Given the description of an element on the screen output the (x, y) to click on. 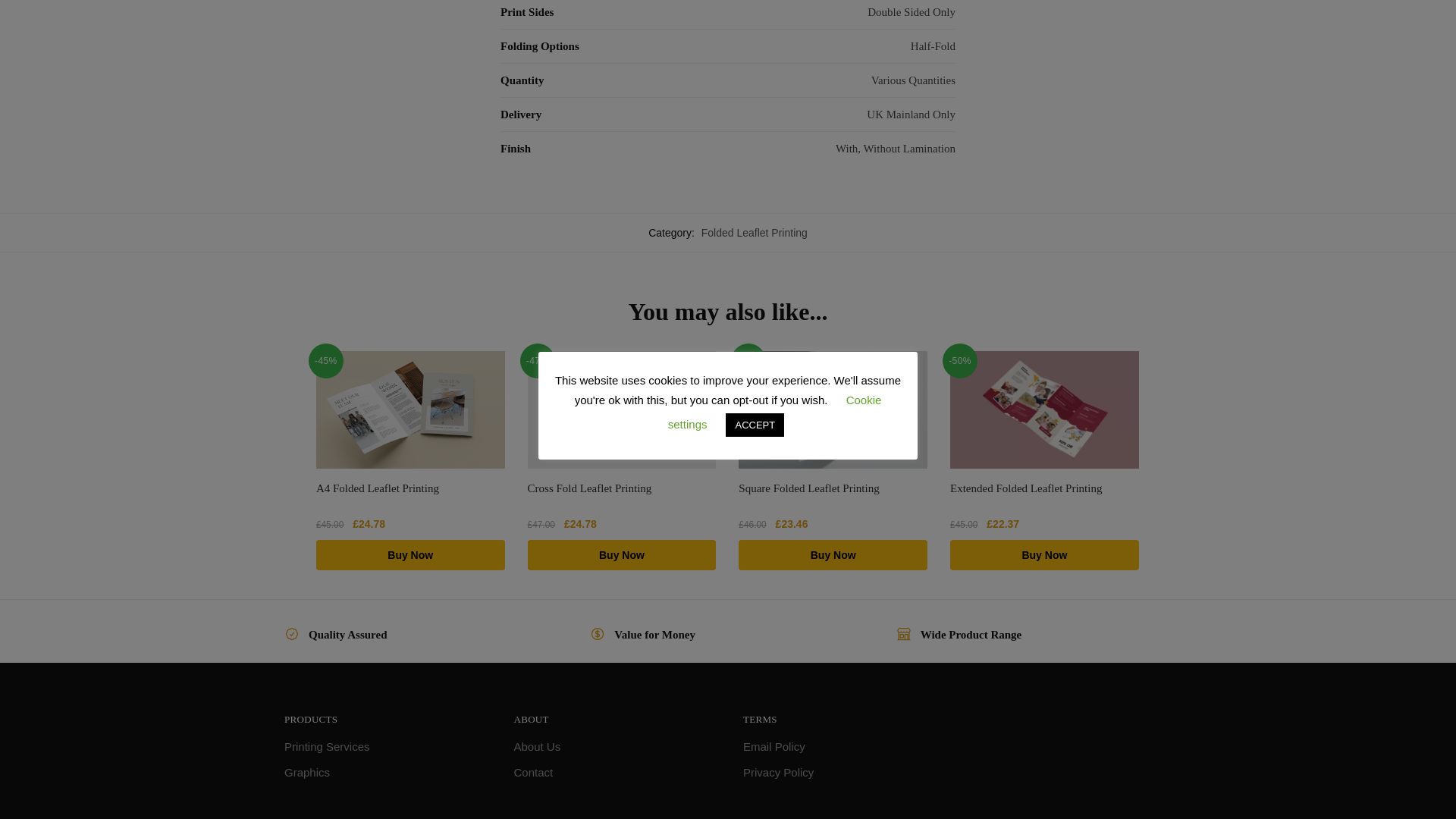
A4 Folded Leaflet Printing (410, 409)
